Given the description of an element on the screen output the (x, y) to click on. 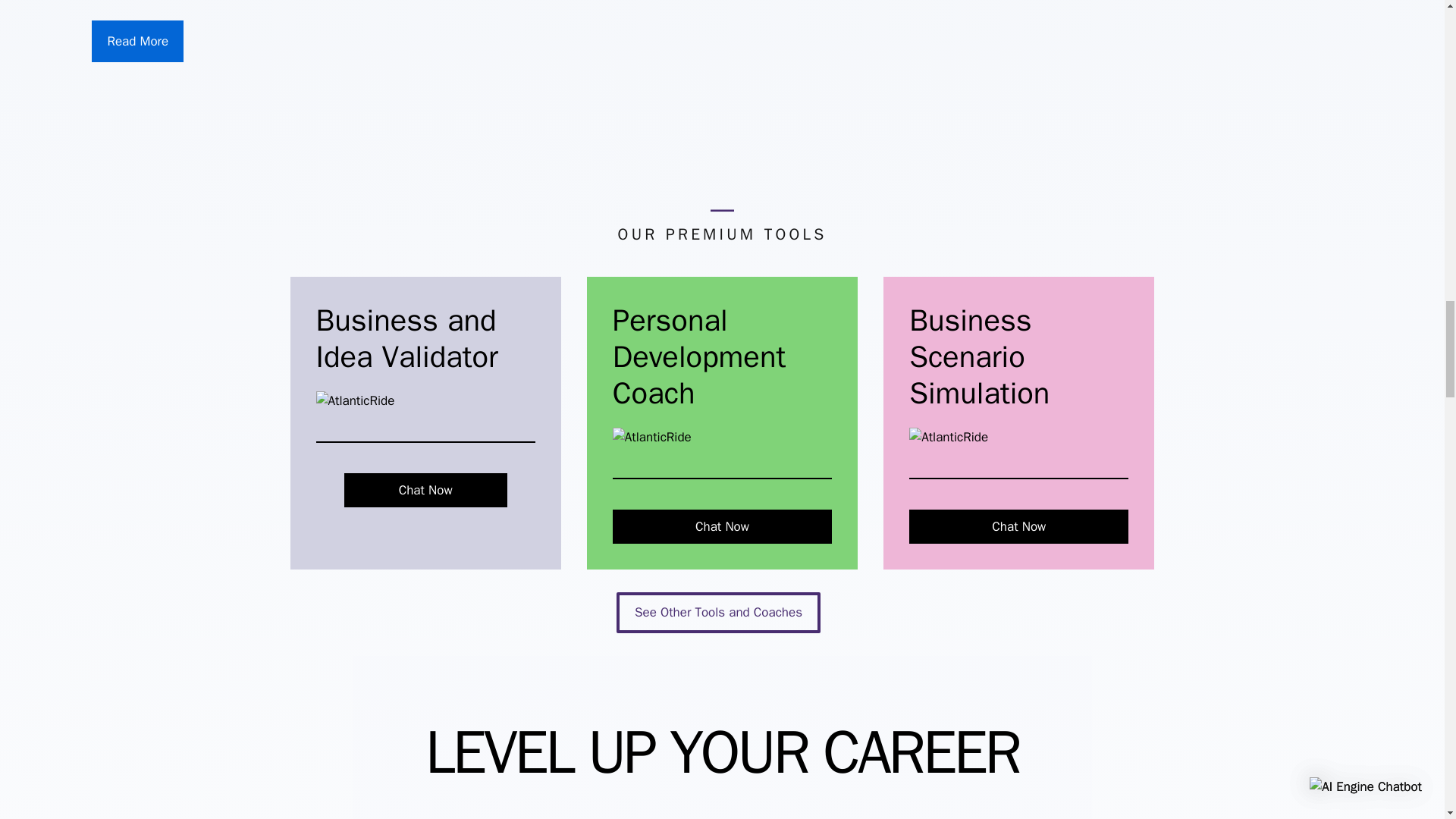
Read More (137, 41)
Home 10 (651, 437)
Chat Now (1018, 526)
Chat Now (424, 490)
Home 11 (948, 437)
See Other Tools and Coaches (718, 612)
Chat Now (721, 526)
Home 9 (354, 401)
